Given the description of an element on the screen output the (x, y) to click on. 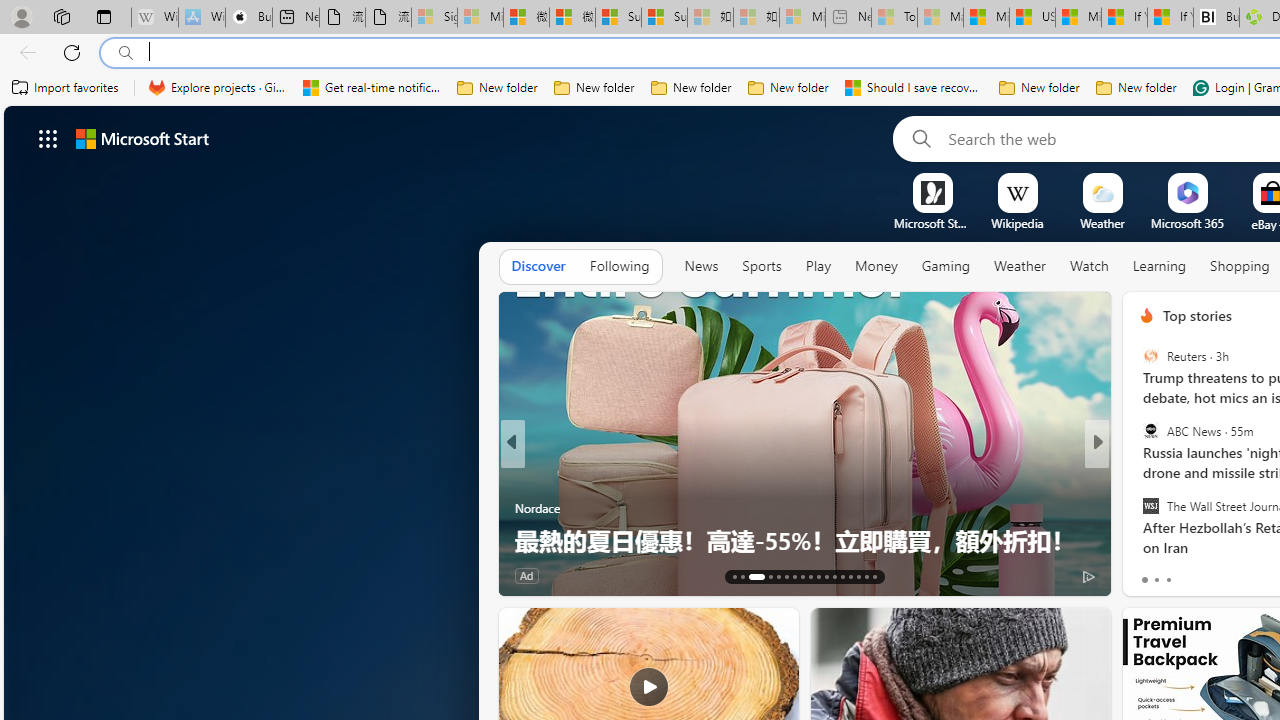
tab-2 (1168, 579)
AutomationID: tab-24 (833, 576)
23 Like (1149, 574)
AutomationID: tab-27 (857, 576)
3 Like (1145, 574)
Sports (761, 267)
AutomationID: tab-25 (842, 576)
View comments 3 Comment (1234, 575)
tab-1 (1156, 579)
